Given the description of an element on the screen output the (x, y) to click on. 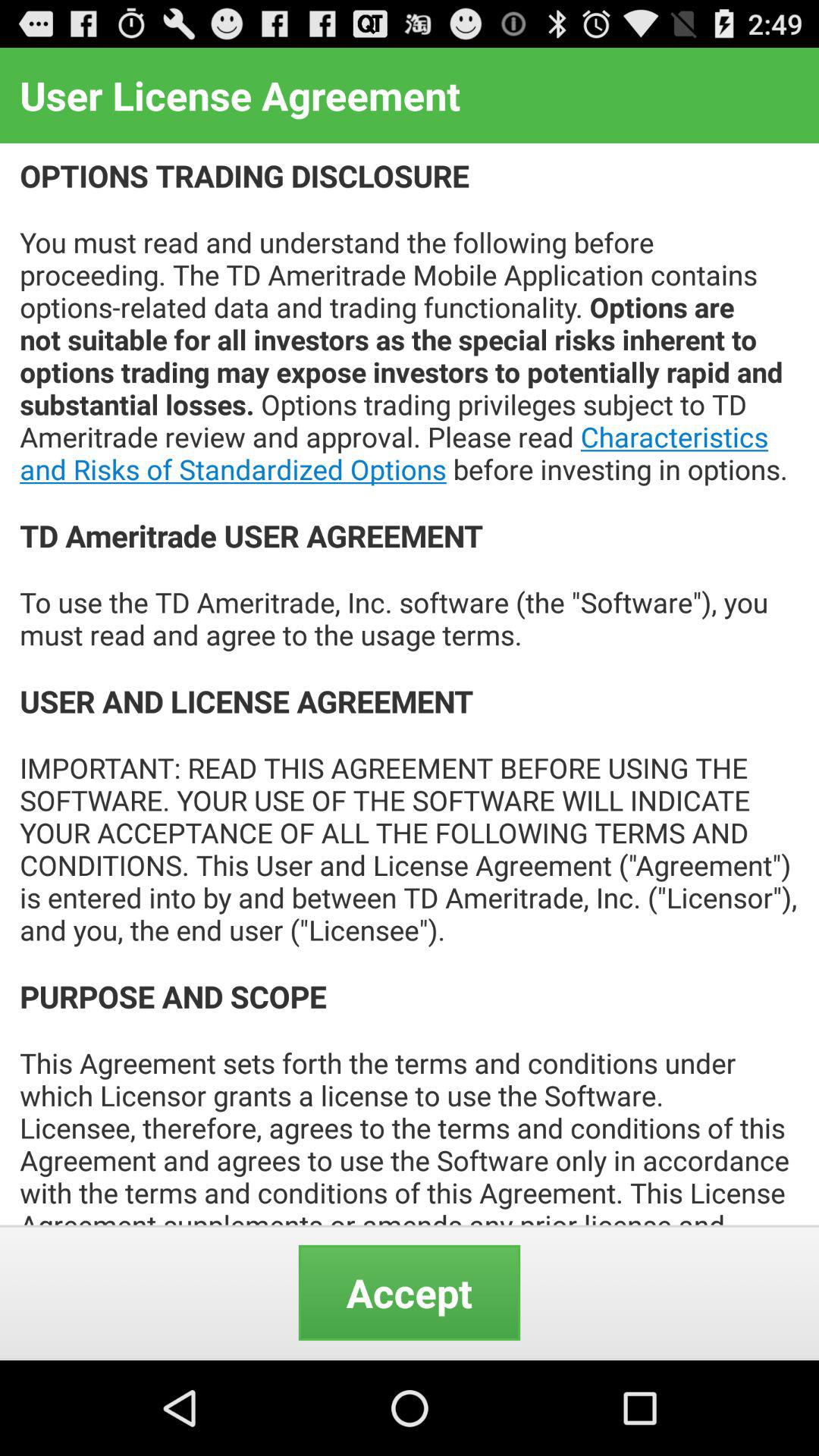
choose the icon below the user license agreement item (409, 684)
